Given the description of an element on the screen output the (x, y) to click on. 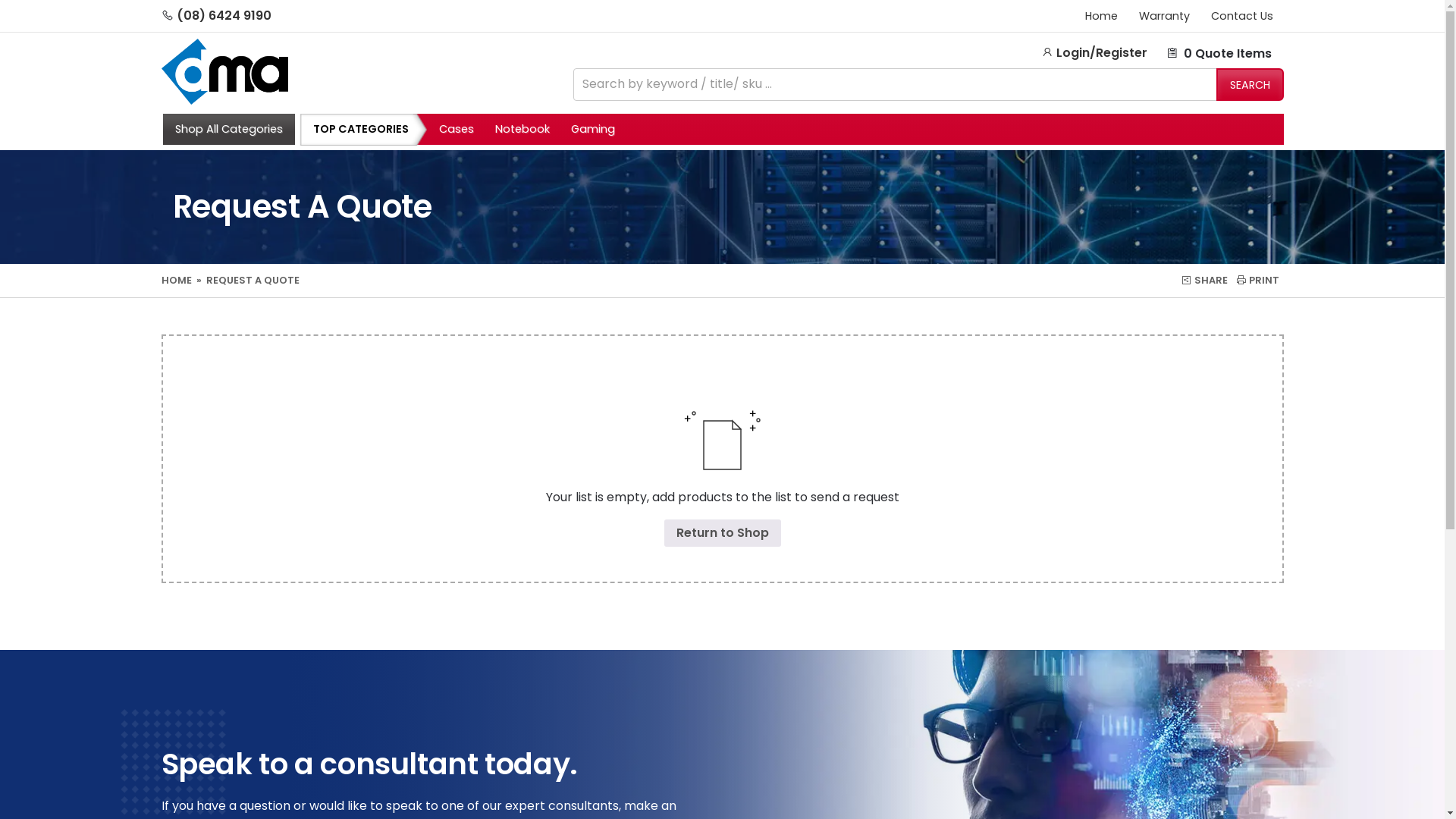
SHARE Element type: text (1203, 280)
Return to Shop Element type: text (722, 532)
PRINT Element type: text (1257, 280)
Search Element type: text (1249, 84)
Cases Element type: text (456, 129)
Warranty Element type: text (1163, 15)
Login/Register Element type: text (1093, 52)
(08) 6424 9190 Element type: text (222, 15)
Home Element type: text (1100, 15)
Notebook Element type: text (522, 129)
HOME Element type: text (176, 279)
TOP CATEGORIES Element type: text (353, 129)
0 Quote Items Element type: text (1217, 53)
Contact Us Element type: text (1241, 15)
Shop All Categories Element type: text (228, 129)
Gaming Element type: text (592, 129)
